Given the description of an element on the screen output the (x, y) to click on. 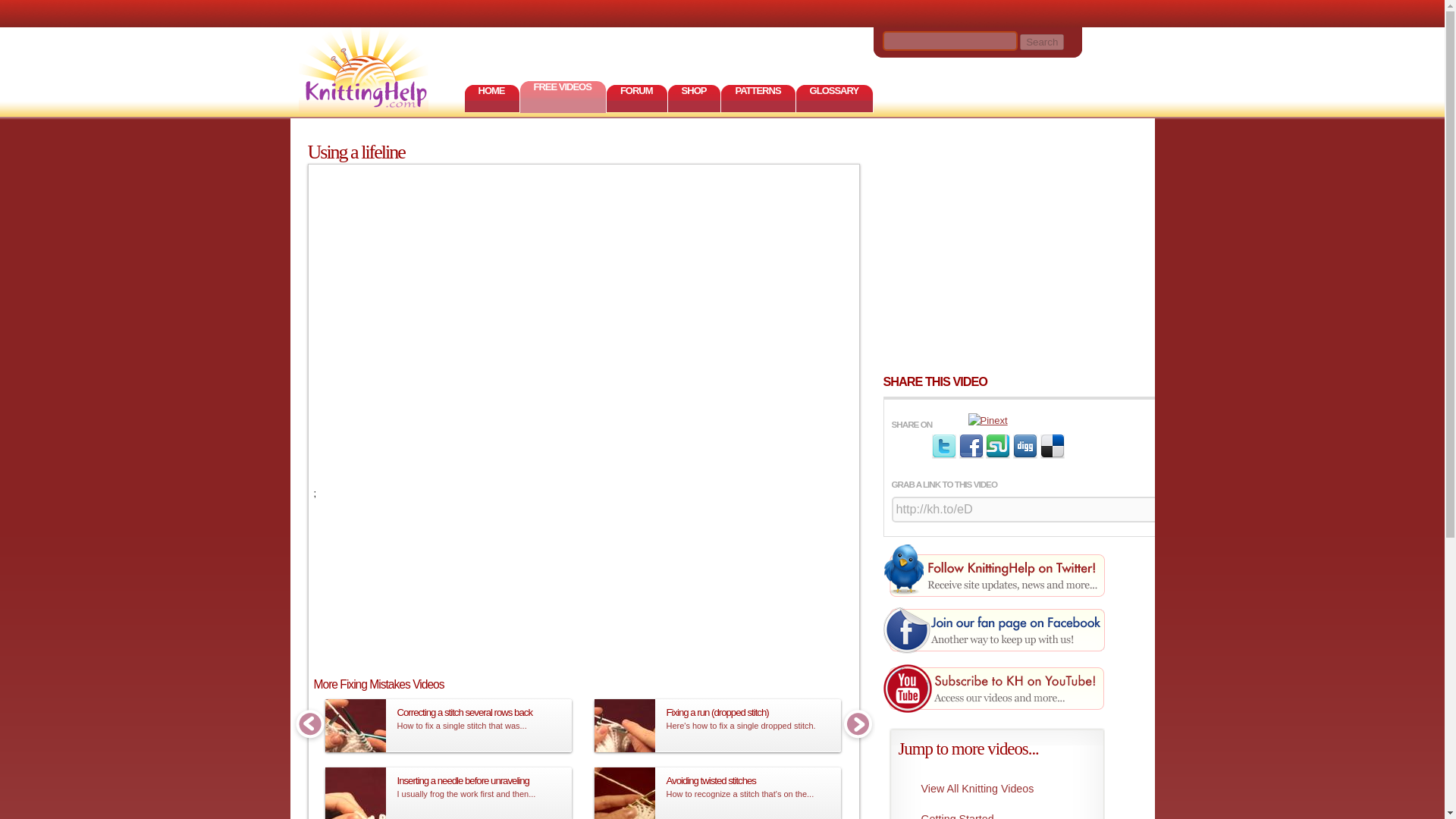
SHOP (695, 99)
HOME (491, 99)
FREE VIDEOS (563, 96)
GLOSSARY (834, 99)
Getting Started (992, 811)
Advertisement (590, 630)
Knitting Video Index (992, 788)
Search (1042, 41)
Advertisement (1019, 254)
FORUM (637, 99)
Search (1042, 41)
View All Knitting Videos (992, 788)
